Given the description of an element on the screen output the (x, y) to click on. 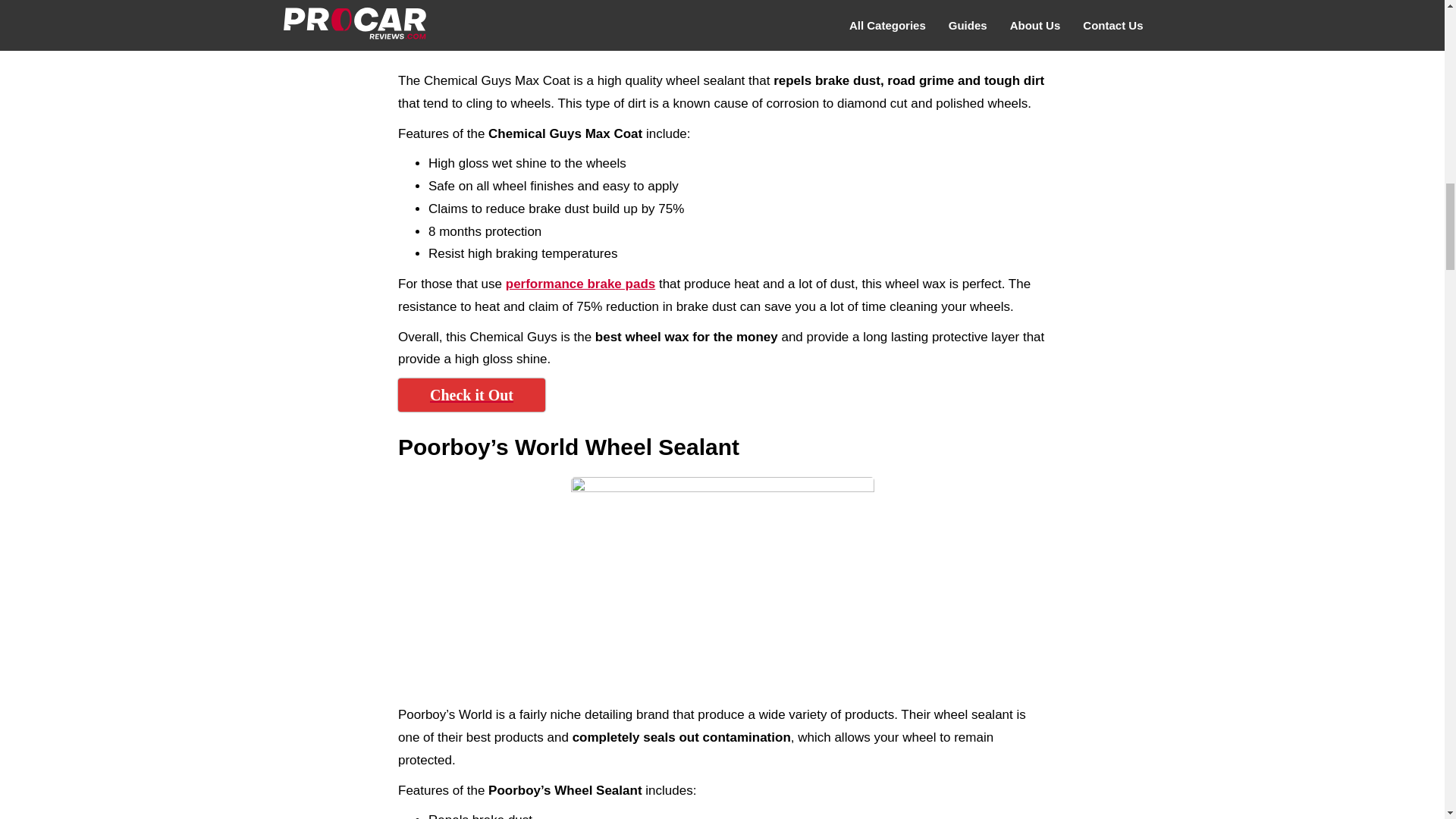
performance brake pads (580, 283)
Check it Out (470, 394)
